Given the description of an element on the screen output the (x, y) to click on. 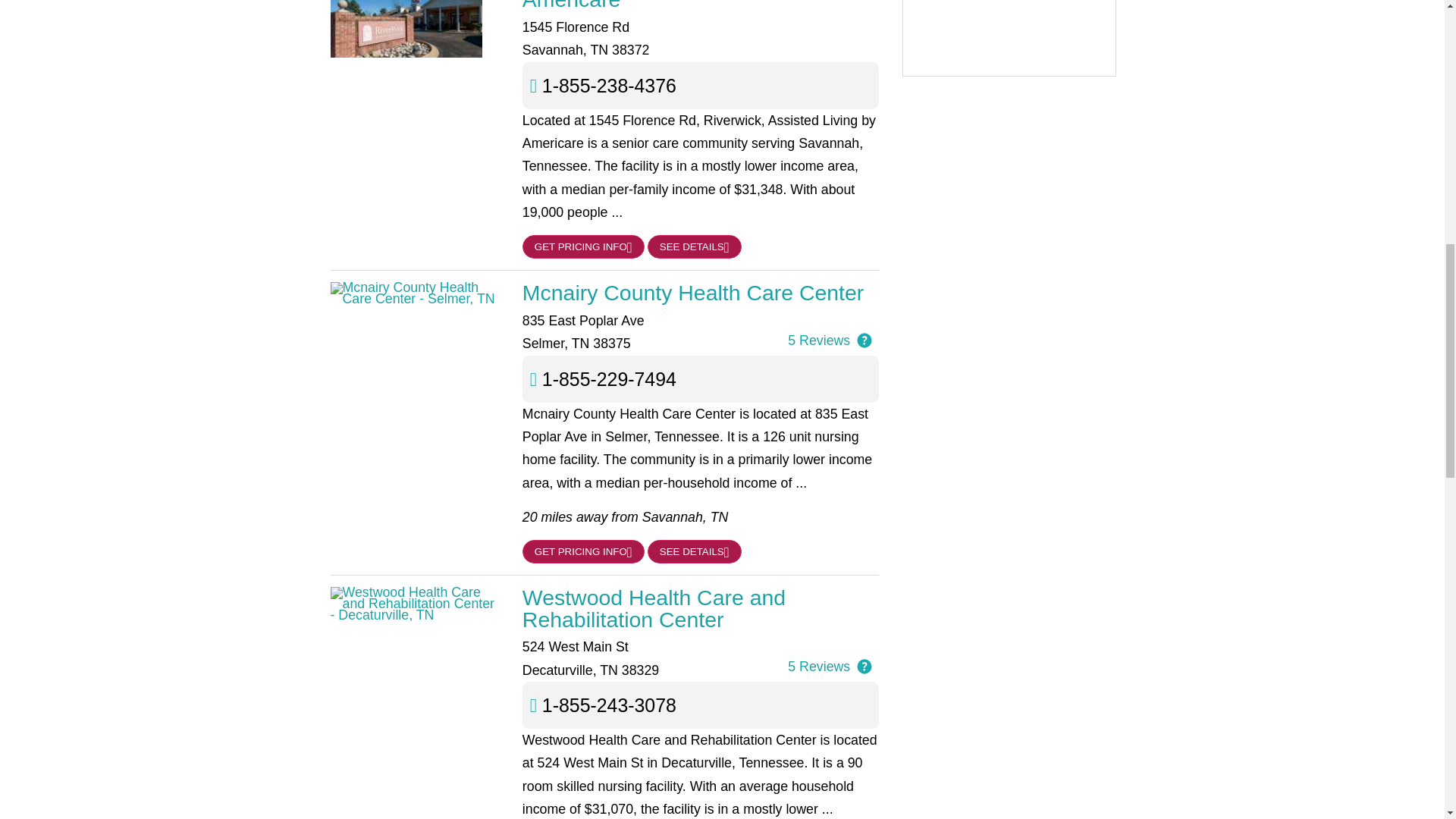
Riverwick, Assisted Living by Americare Savannah, TN (700, 5)
Mcnairy County Health Care Center Selmer, TN (700, 292)
